Given the description of an element on the screen output the (x, y) to click on. 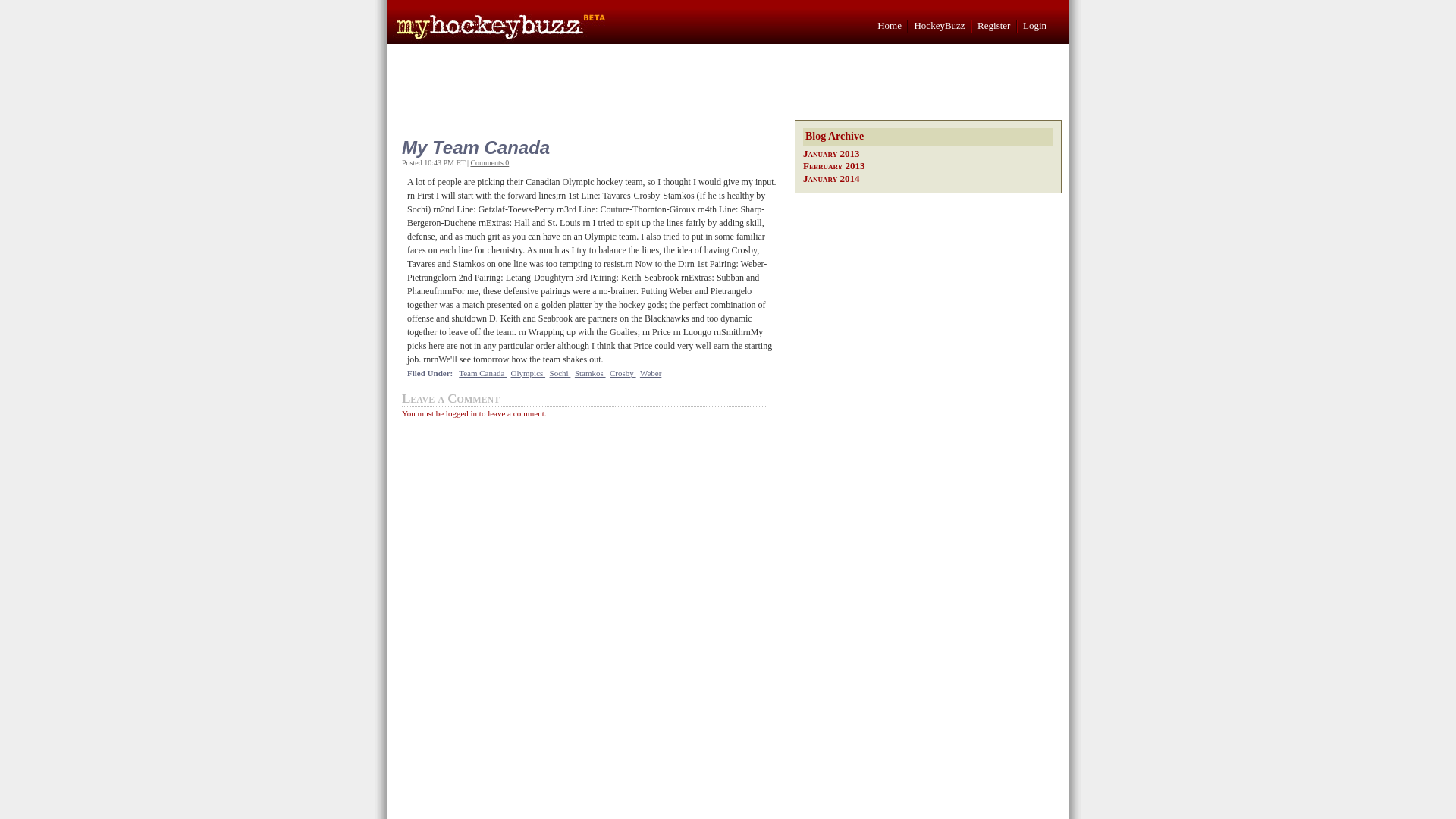
Weber (650, 372)
February 2013 (833, 165)
Crosby (623, 372)
Sochi (560, 372)
Blog Archive (927, 136)
My Team Canada (587, 147)
HockeyBuzz (938, 25)
Stamkos (590, 372)
Comments 0 (489, 162)
Register (993, 25)
